Given the description of an element on the screen output the (x, y) to click on. 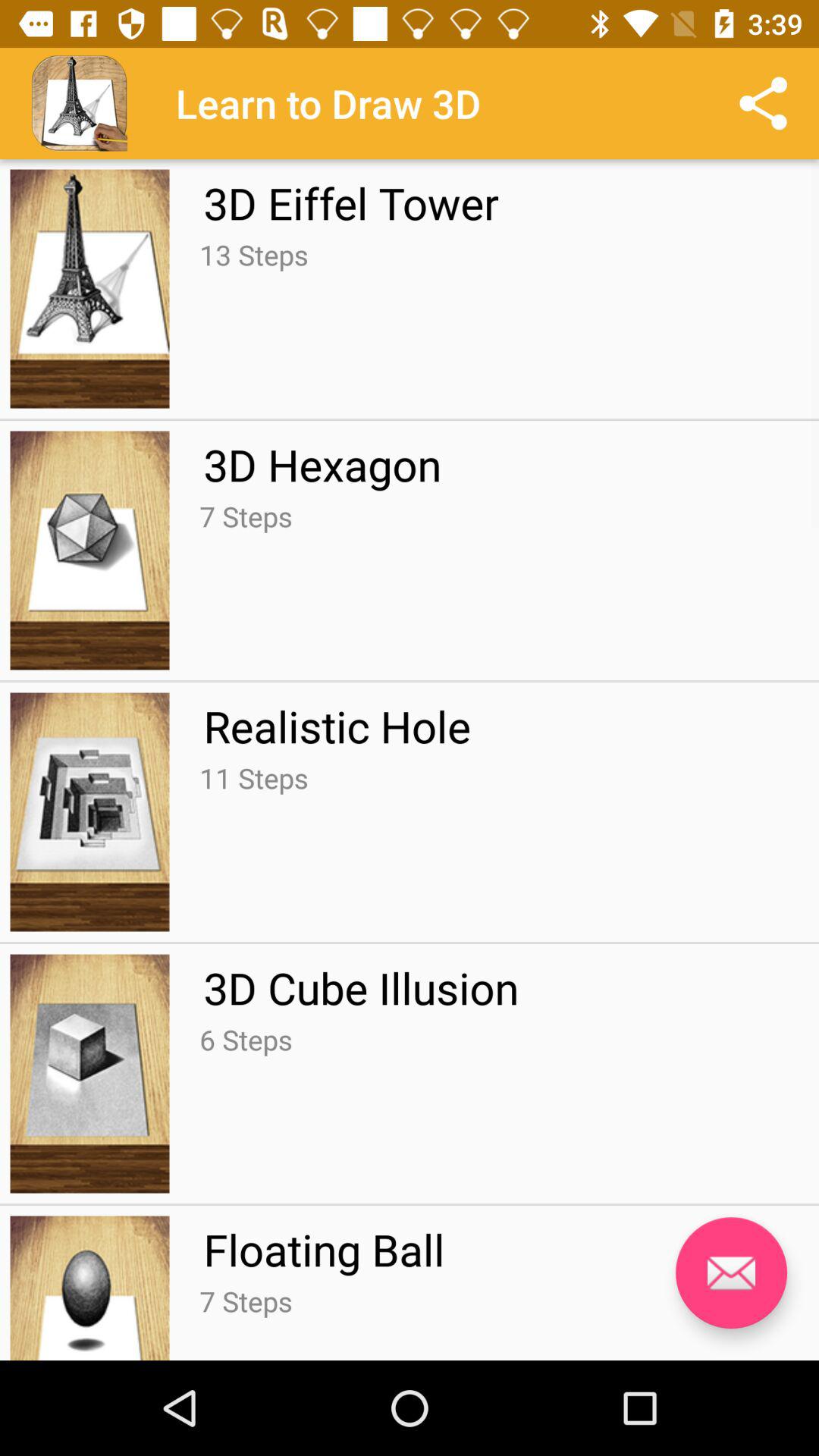
click the app above 11 steps icon (336, 725)
